Given the description of an element on the screen output the (x, y) to click on. 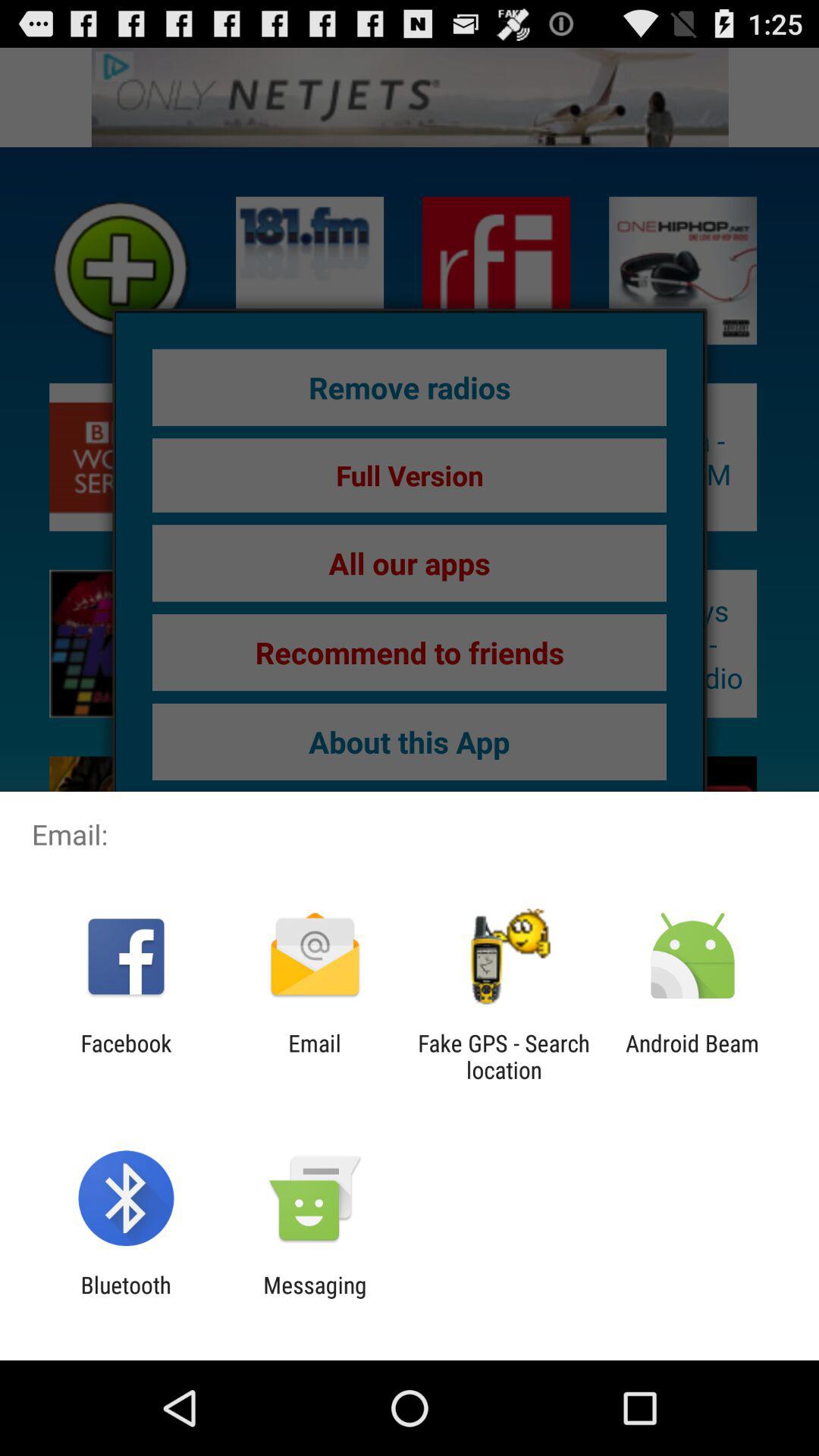
press the icon to the right of email (503, 1056)
